Given the description of an element on the screen output the (x, y) to click on. 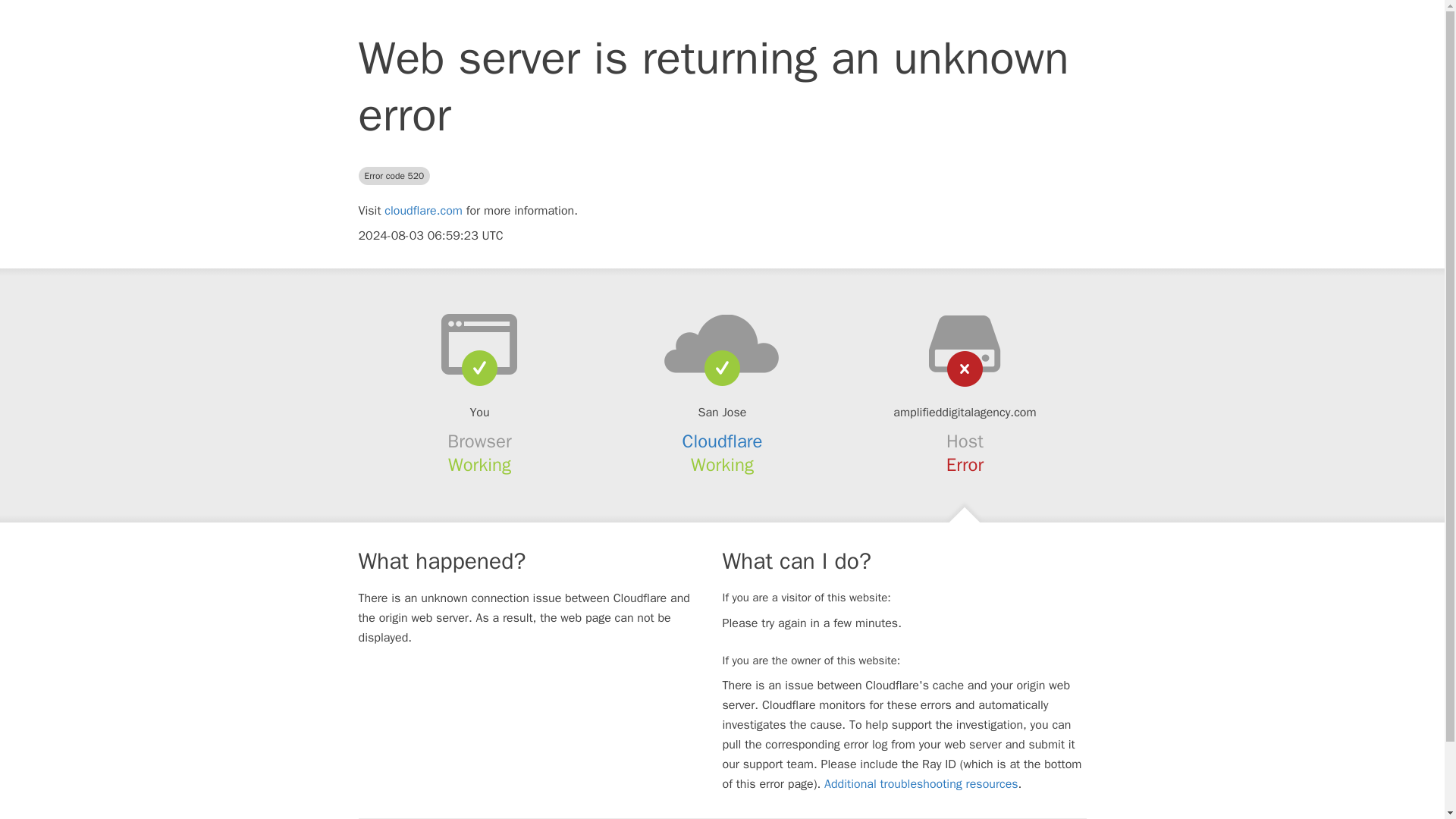
cloudflare.com (423, 210)
Additional troubleshooting resources (920, 783)
Cloudflare (722, 440)
